Given the description of an element on the screen output the (x, y) to click on. 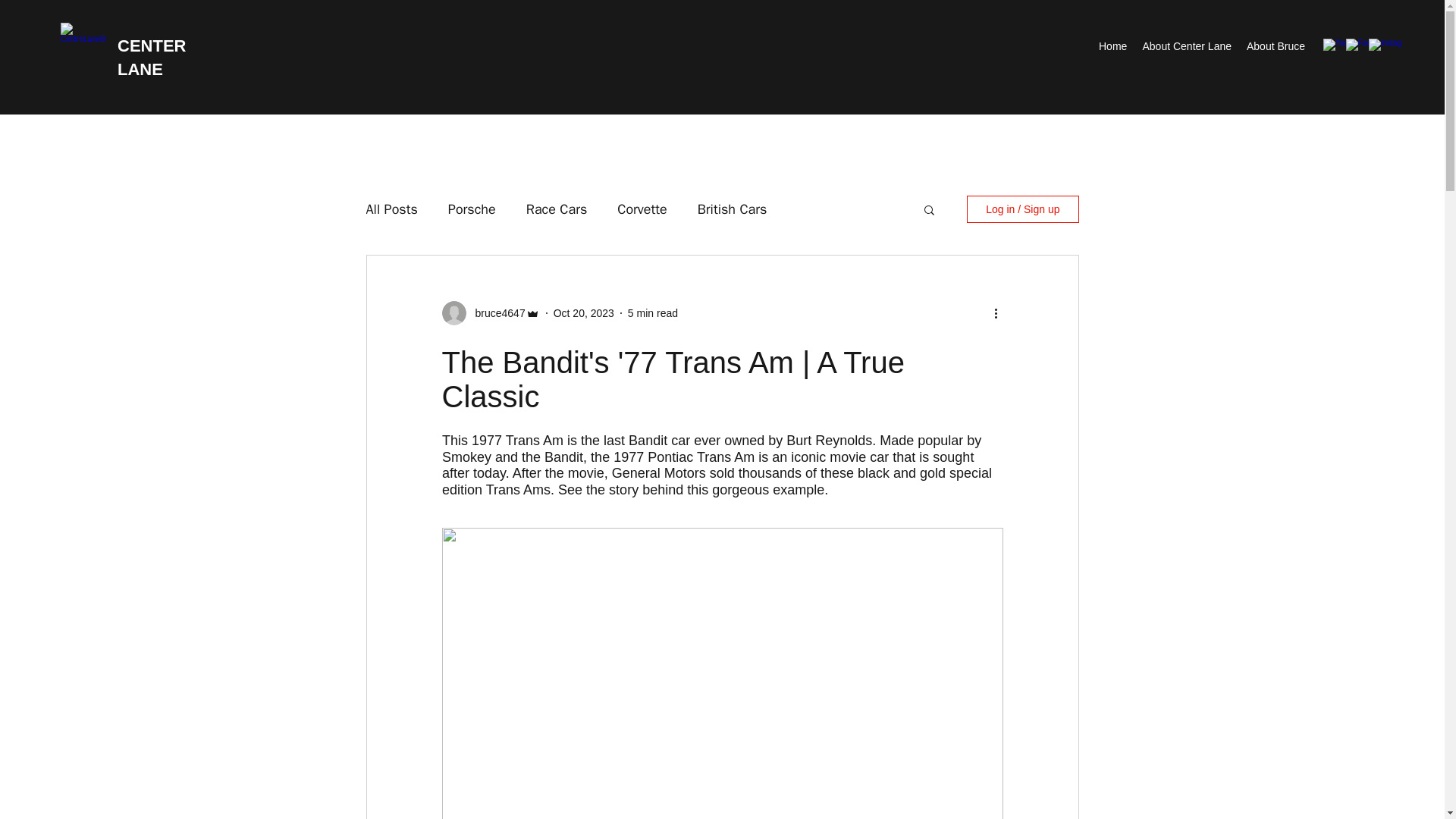
All Posts (390, 208)
Porsche (472, 208)
About Bruce (1276, 46)
Race Cars (556, 208)
Corvette (641, 208)
Oct 20, 2023 (583, 312)
bruce4647 (494, 312)
About Center Lane (1186, 46)
Home (1112, 46)
British Cars (732, 208)
